Given the description of an element on the screen output the (x, y) to click on. 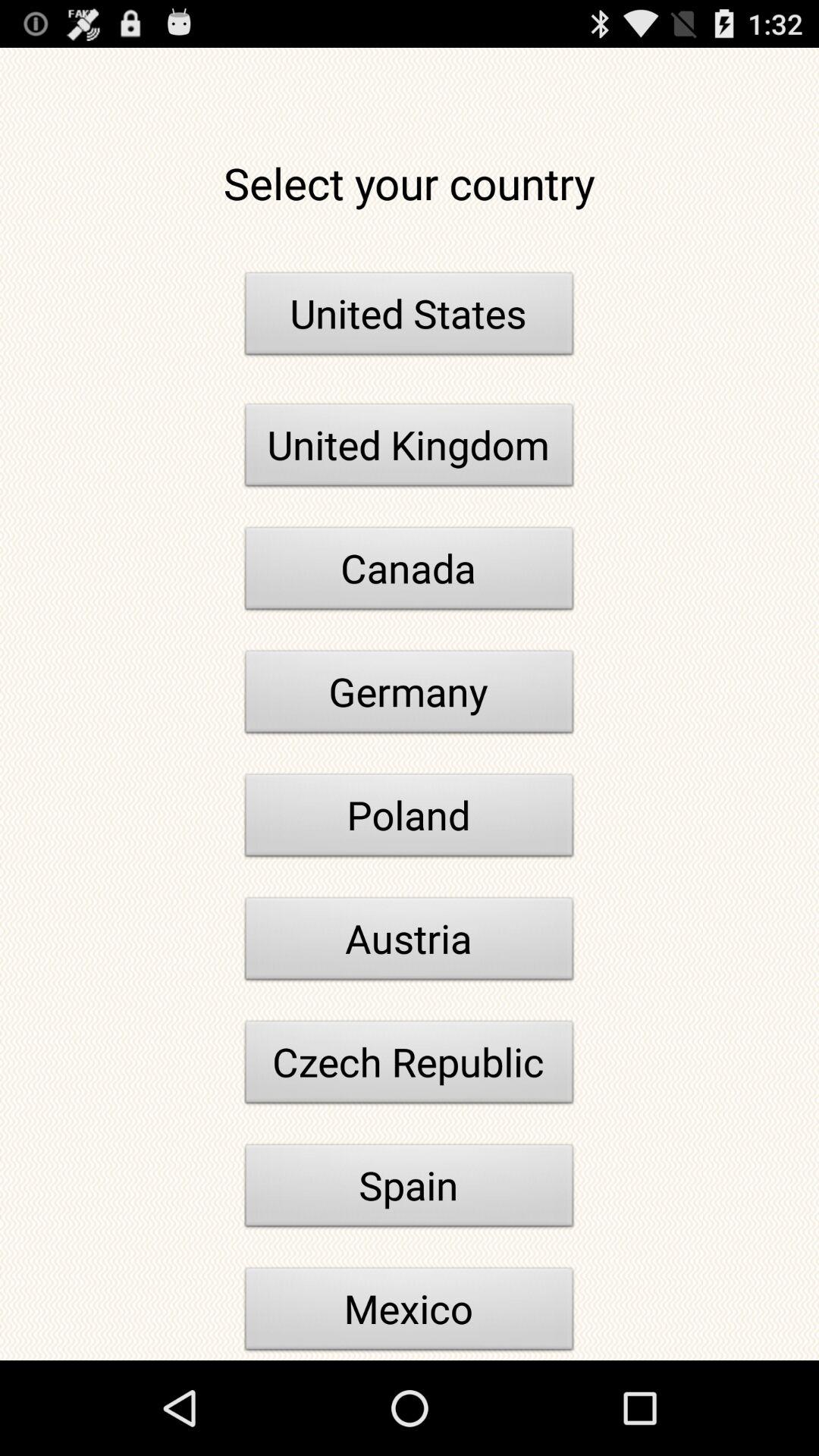
tap czech republic (409, 1066)
